Given the description of an element on the screen output the (x, y) to click on. 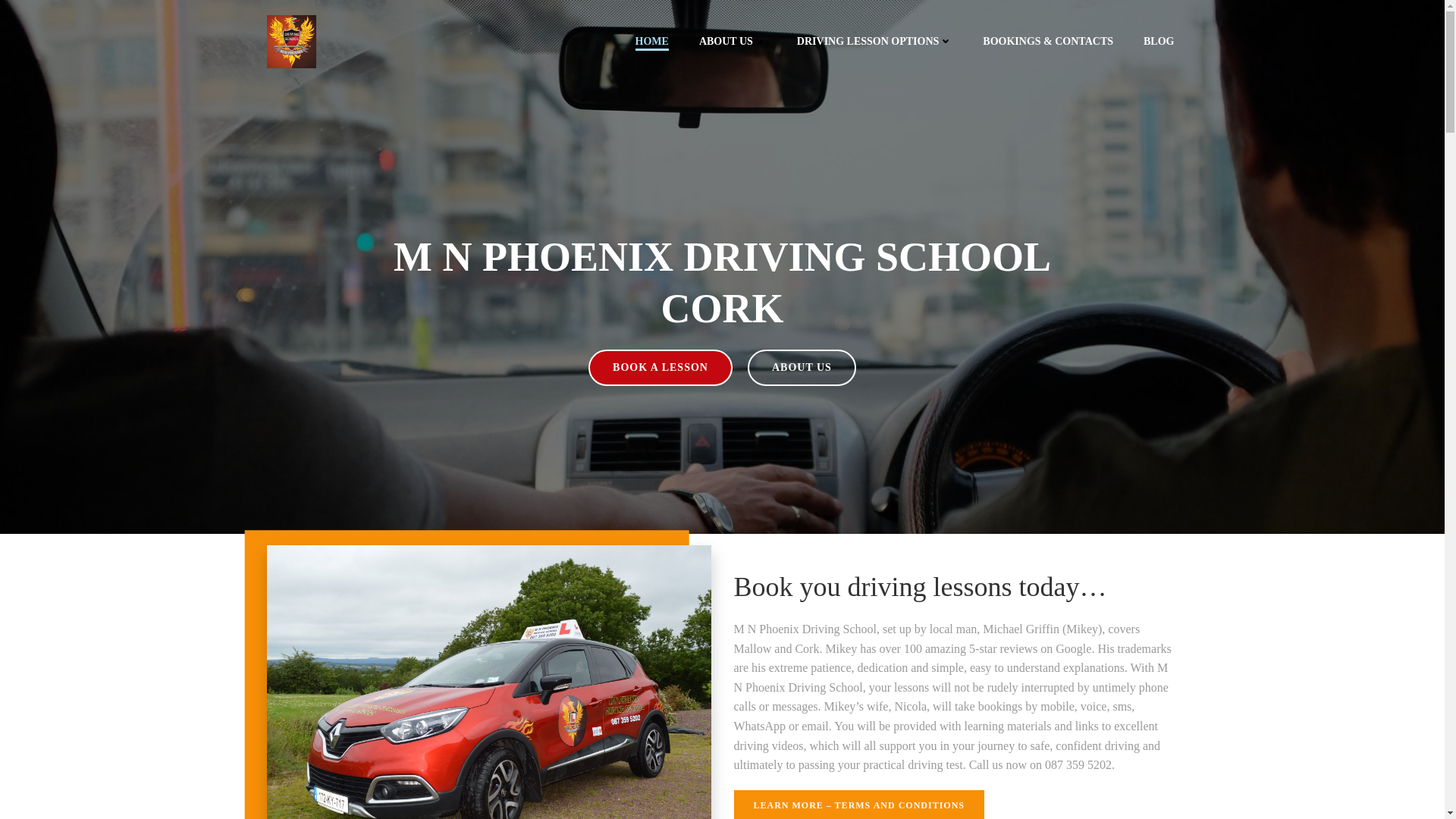
DRIVING LESSON OPTIONS (874, 41)
BLOG (1157, 41)
M N Phoenix Driving School home page  (651, 41)
BOOK A LESSON (660, 367)
HOME (651, 41)
ABOUT US (802, 367)
ABOUT US (732, 41)
